Given the description of an element on the screen output the (x, y) to click on. 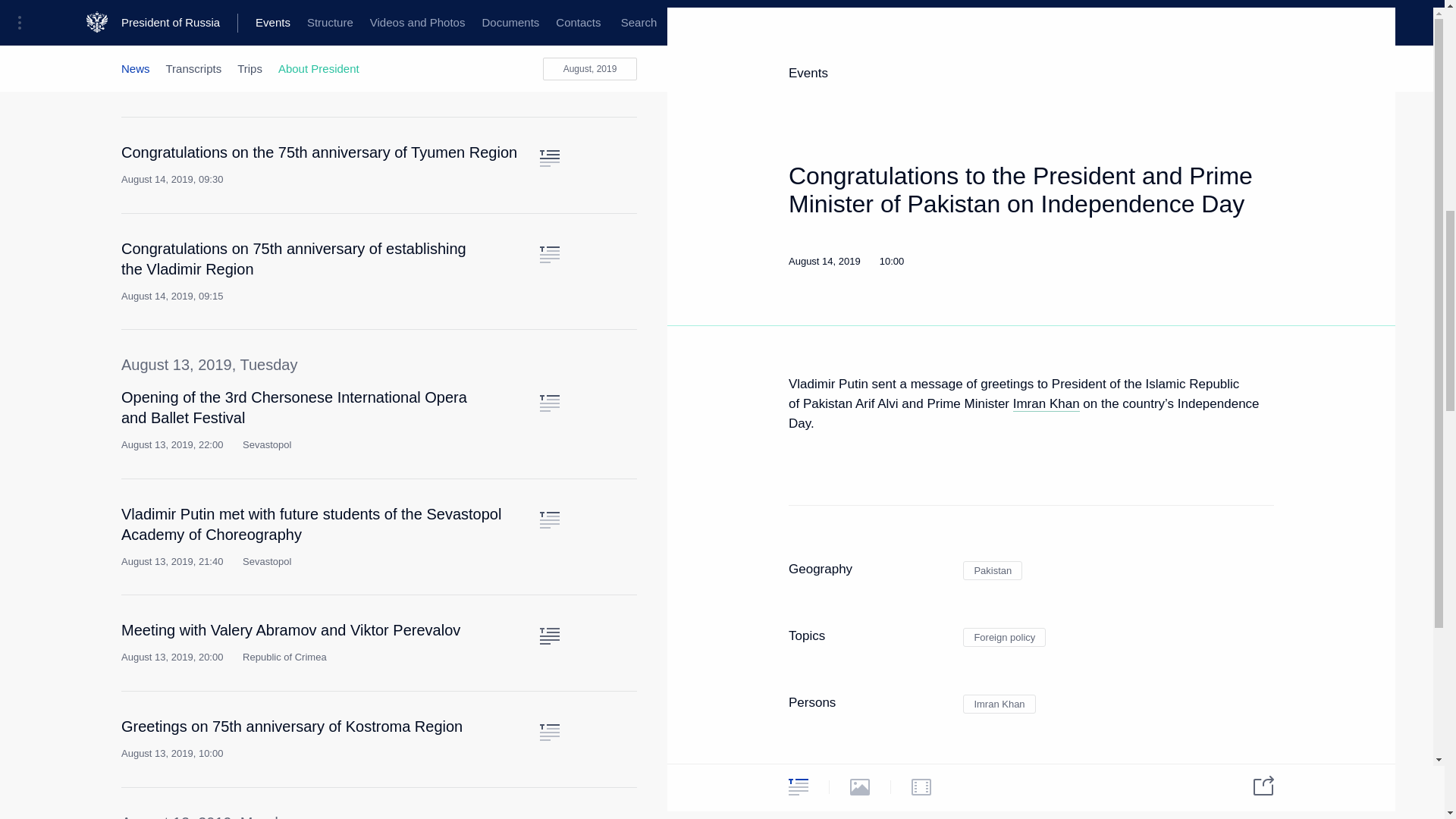
Text of the article (549, 636)
Text of the article (549, 732)
Text of the article (549, 402)
Text of the article (549, 254)
Text of the article (549, 158)
Text of the article (549, 519)
Text of the article (549, 42)
